Given the description of an element on the screen output the (x, y) to click on. 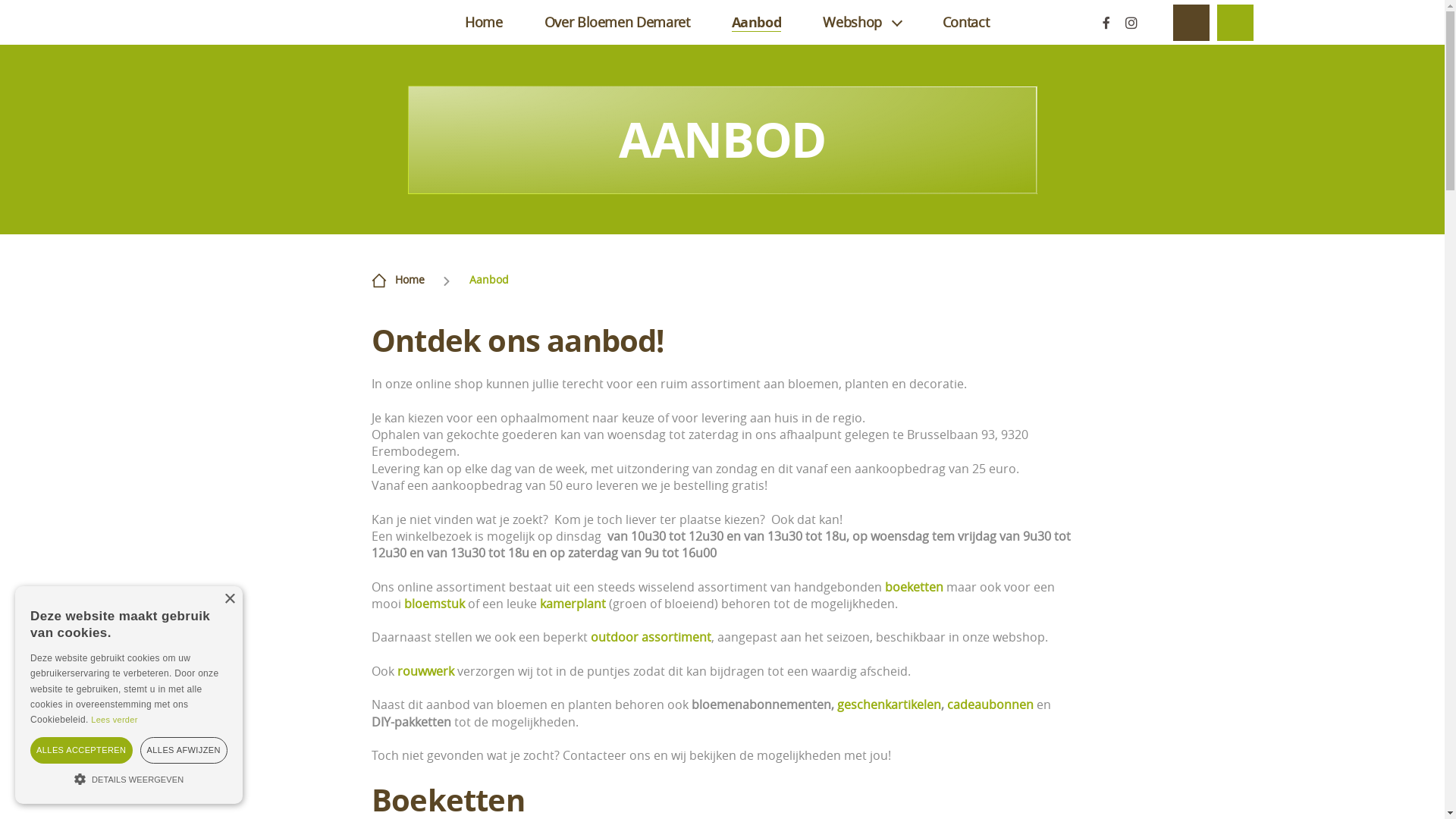
geschenkartikelen Element type: text (889, 704)
boeketten Element type: text (915, 586)
bloemstuk Element type: text (434, 603)
Instagram Element type: text (1129, 22)
kamerplant Element type: text (572, 603)
Contact Element type: text (965, 21)
Home Element type: text (409, 279)
Aanbod Element type: text (756, 22)
outdoor assortiment Element type: text (650, 636)
rouwwerk Element type: text (427, 670)
cadeaubonnen Element type: text (990, 704)
Over Bloemen Demaret Element type: text (617, 21)
Facebook Element type: text (1105, 21)
Lees verder Element type: text (114, 719)
Webshop Element type: text (861, 21)
Home Element type: text (483, 21)
